Given the description of an element on the screen output the (x, y) to click on. 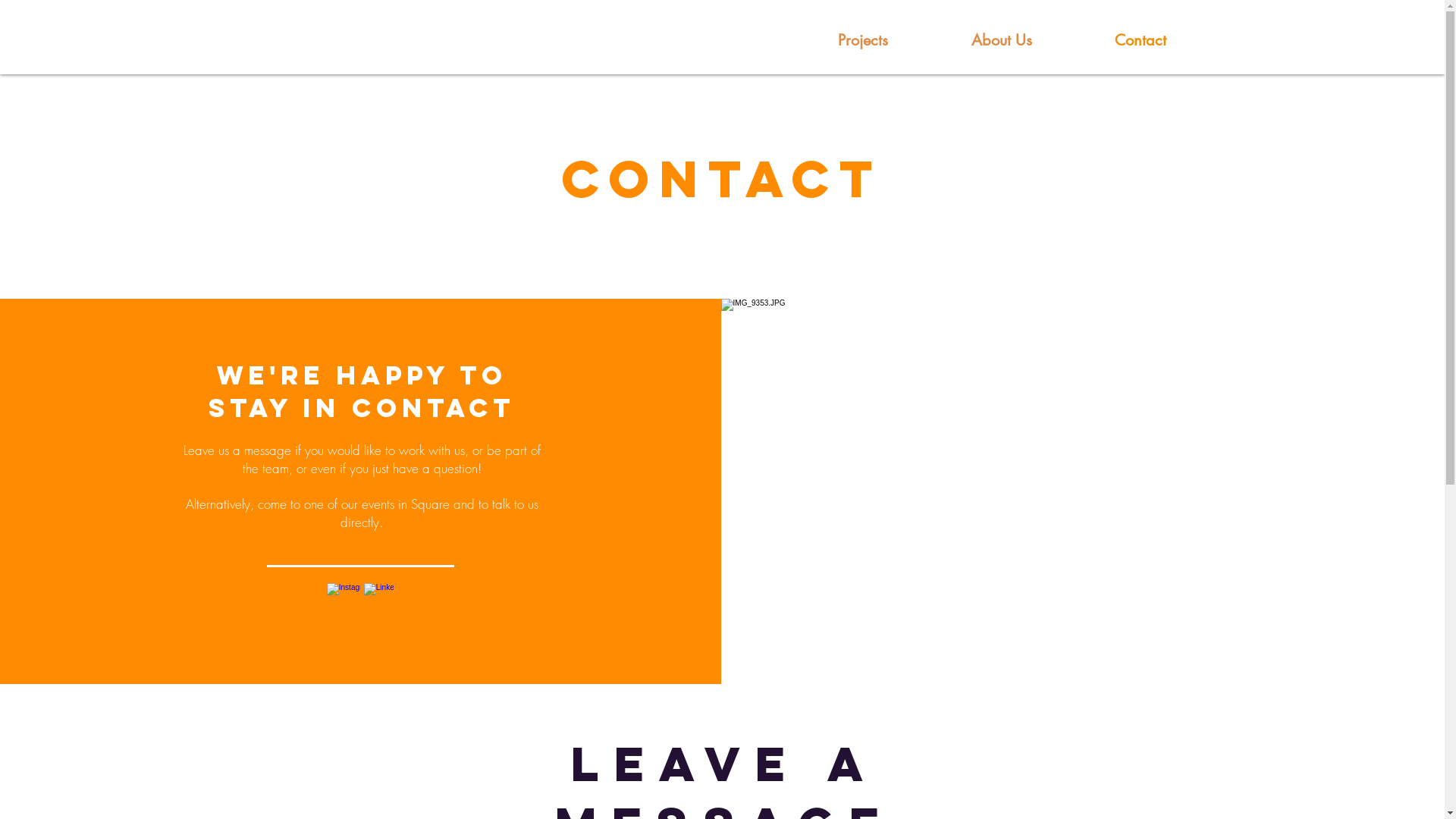
Contact Element type: text (1139, 40)
About Us Element type: text (1001, 40)
Projects Element type: text (862, 40)
